Given the description of an element on the screen output the (x, y) to click on. 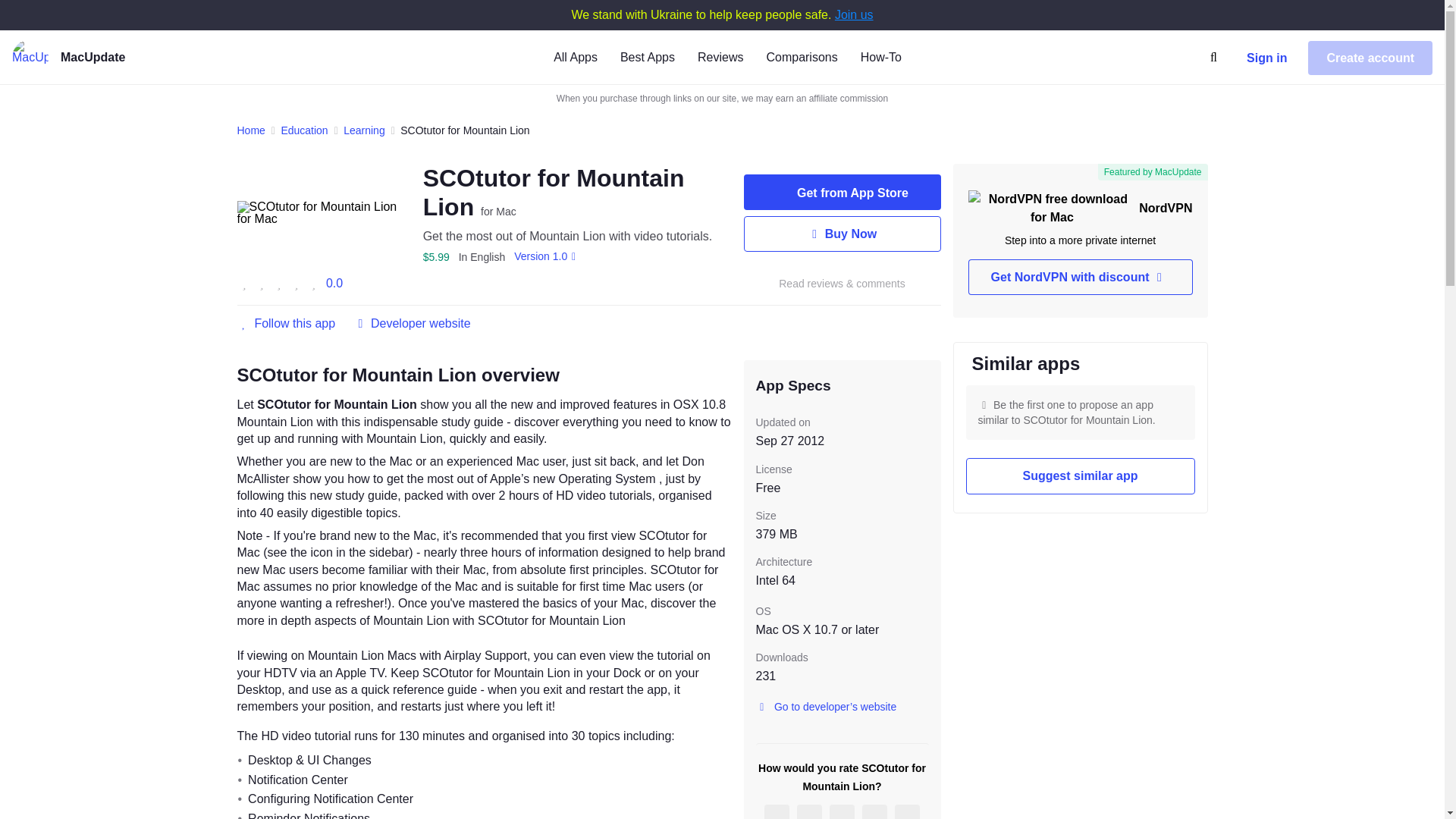
Join us (853, 14)
MacUpdate (116, 57)
1.0 (548, 256)
All Apps (574, 56)
